Given the description of an element on the screen output the (x, y) to click on. 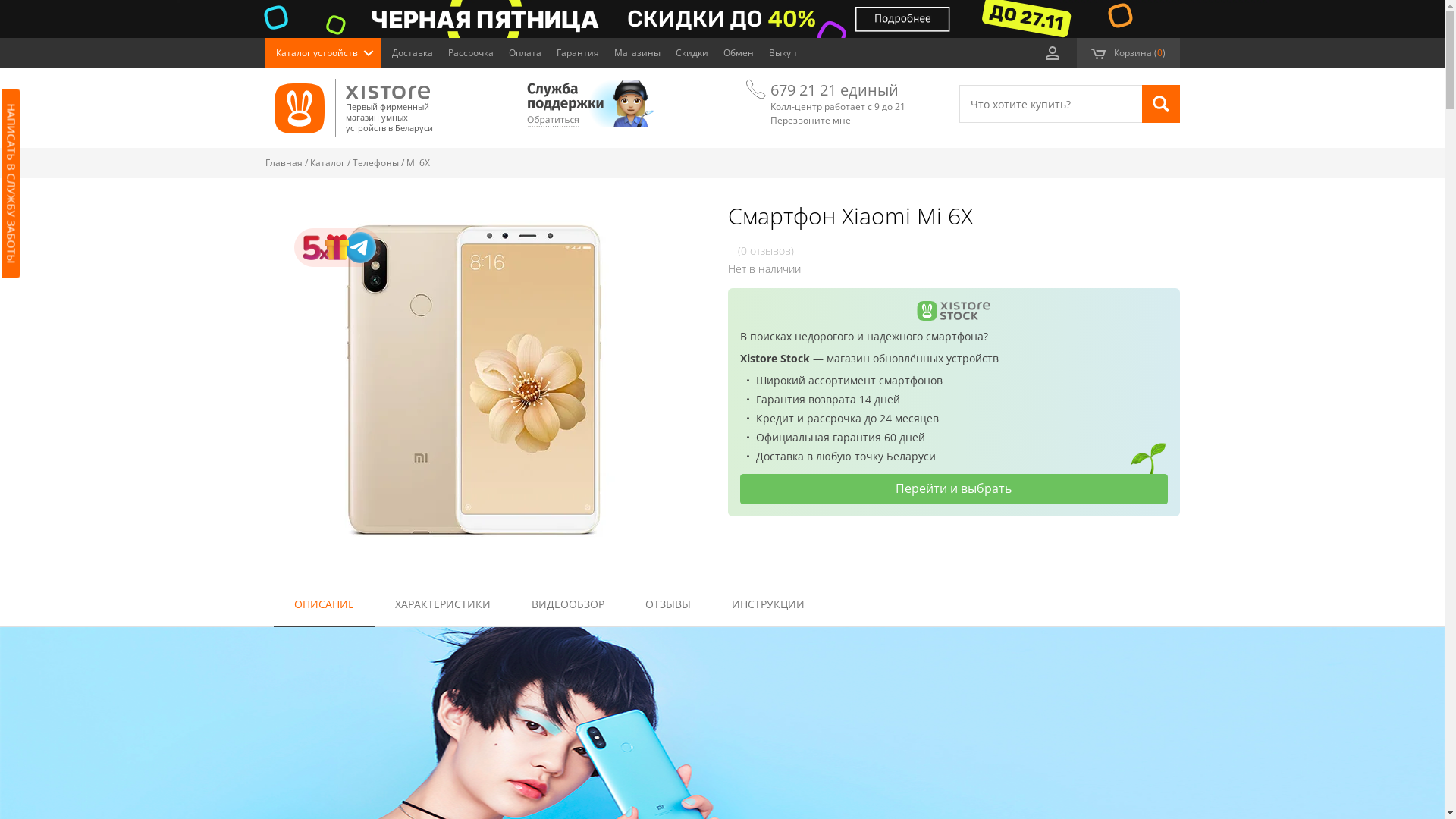
Search Element type: text (1160, 103)
; Element type: text (1052, 52)
